Given the description of an element on the screen output the (x, y) to click on. 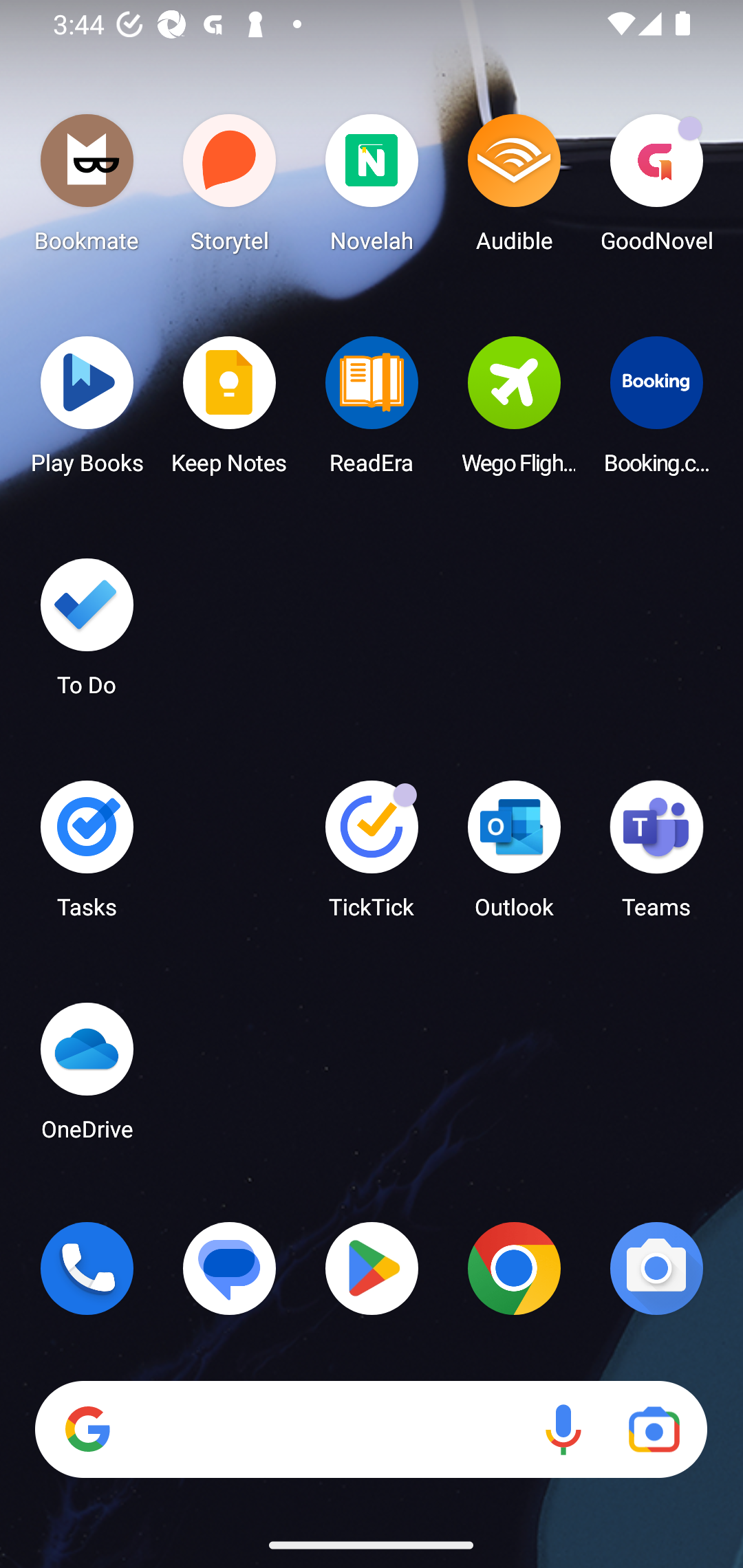
Bookmate (86, 188)
Storytel (229, 188)
Novelah (371, 188)
Audible (513, 188)
GoodNovel GoodNovel has 1 notification (656, 188)
Play Books (86, 410)
Keep Notes (229, 410)
ReadEra (371, 410)
Wego Flights & Hotels (513, 410)
Booking.com (656, 410)
To Do (86, 633)
Tasks (86, 854)
TickTick TickTick has 3 notifications (371, 854)
Outlook (513, 854)
Teams (656, 854)
OneDrive (86, 1076)
Phone (86, 1268)
Messages (229, 1268)
Play Store (371, 1268)
Chrome (513, 1268)
Camera (656, 1268)
Search Voice search Google Lens (370, 1429)
Voice search (562, 1429)
Google Lens (653, 1429)
